Given the description of an element on the screen output the (x, y) to click on. 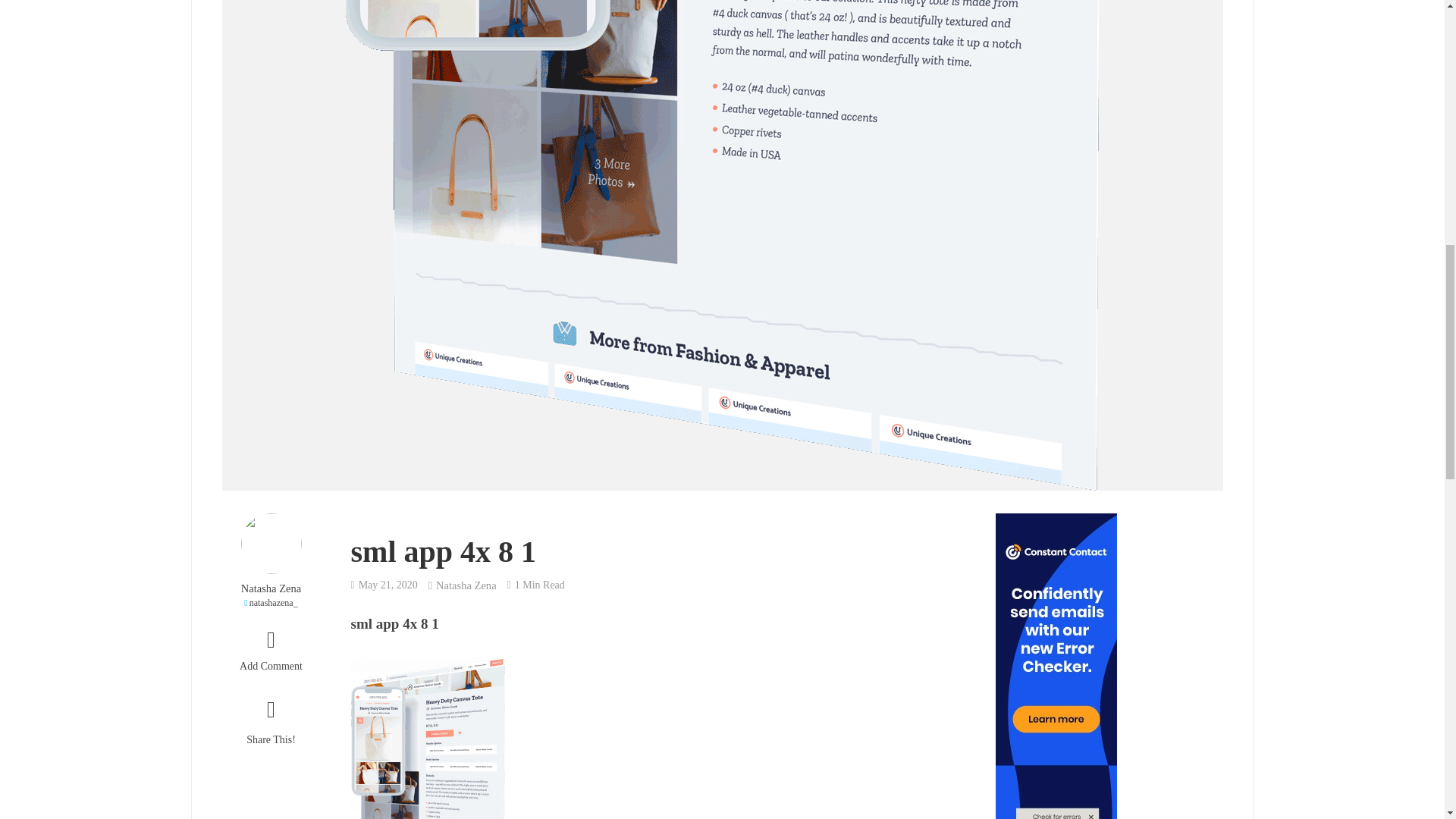
sml app 4x 8 1 (426, 770)
